Given the description of an element on the screen output the (x, y) to click on. 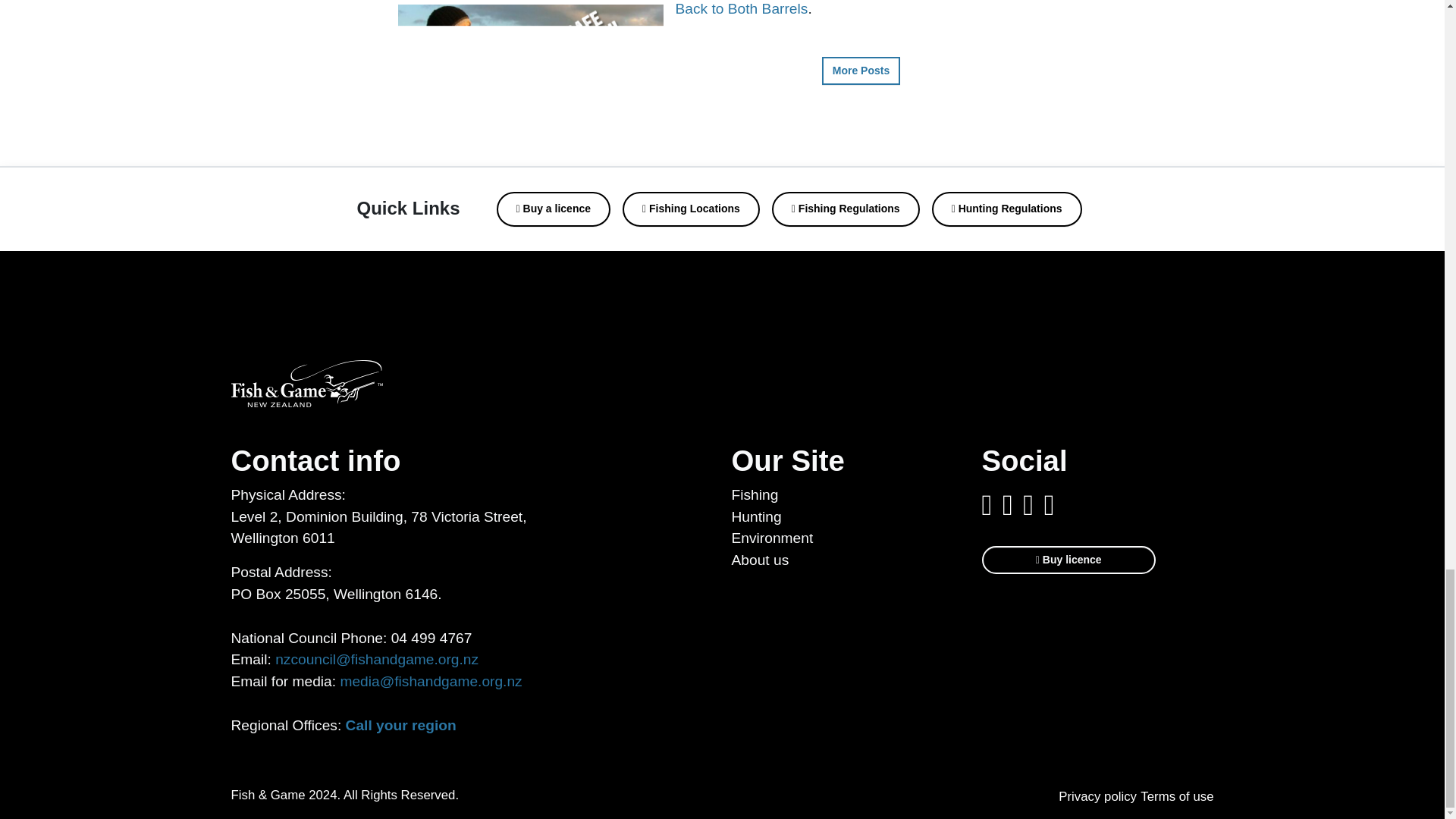
Back to Both Barrels (741, 8)
Hunting Regulations (1006, 208)
Terms of use (1176, 796)
Privacy policy (1097, 796)
About us (759, 560)
More Posts (860, 70)
Buy licence (1068, 560)
Fishing (753, 494)
Call your region (401, 725)
Fishing Locations (691, 208)
